Given the description of an element on the screen output the (x, y) to click on. 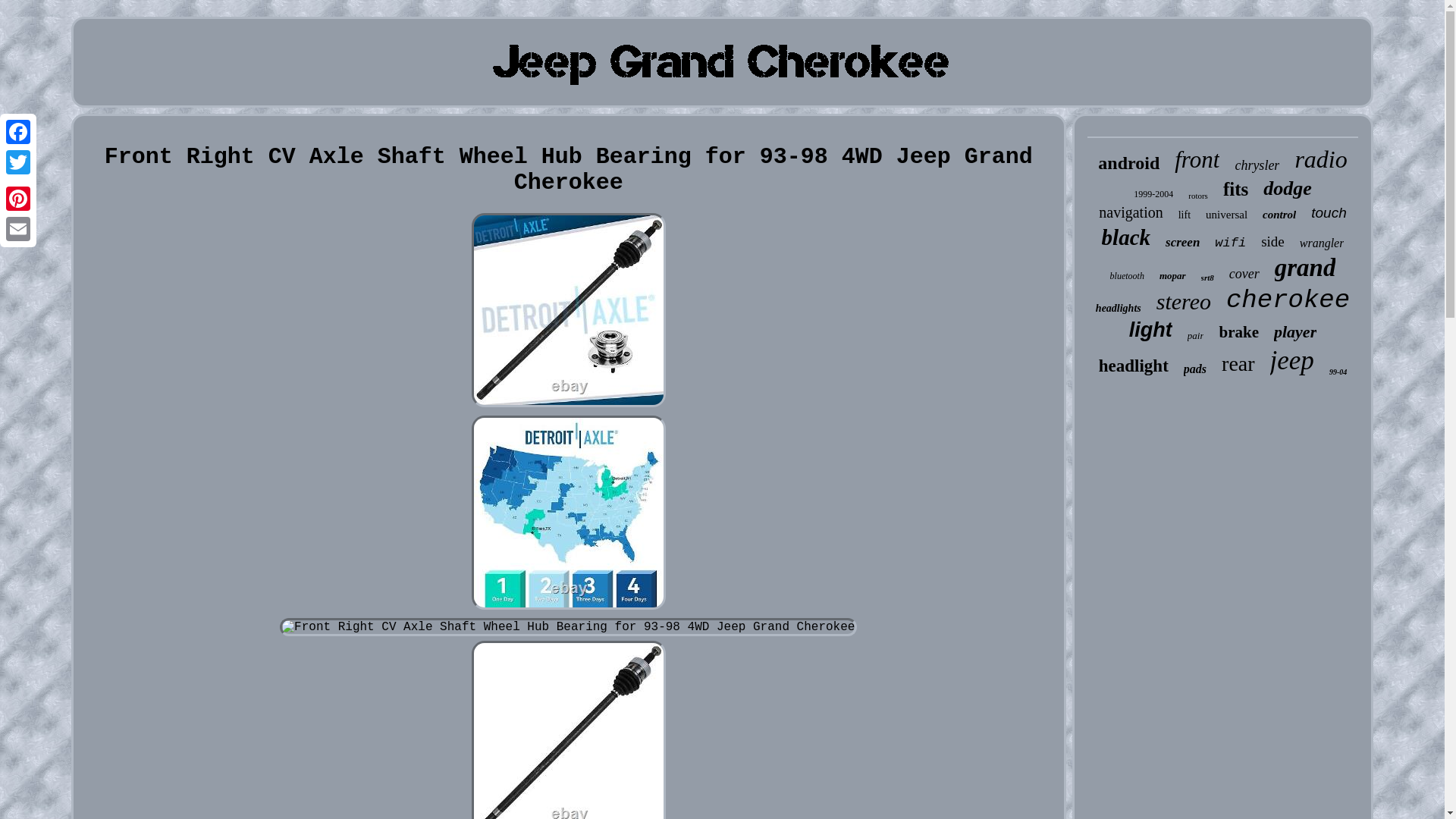
Facebook (17, 132)
Email (17, 228)
cover (1243, 273)
Twitter (17, 162)
wrangler (1321, 243)
grand (1305, 267)
light (1150, 330)
universal (1226, 214)
dodge (1287, 188)
Pinterest (17, 198)
lift (1184, 215)
bluetooth (1126, 276)
